Given the description of an element on the screen output the (x, y) to click on. 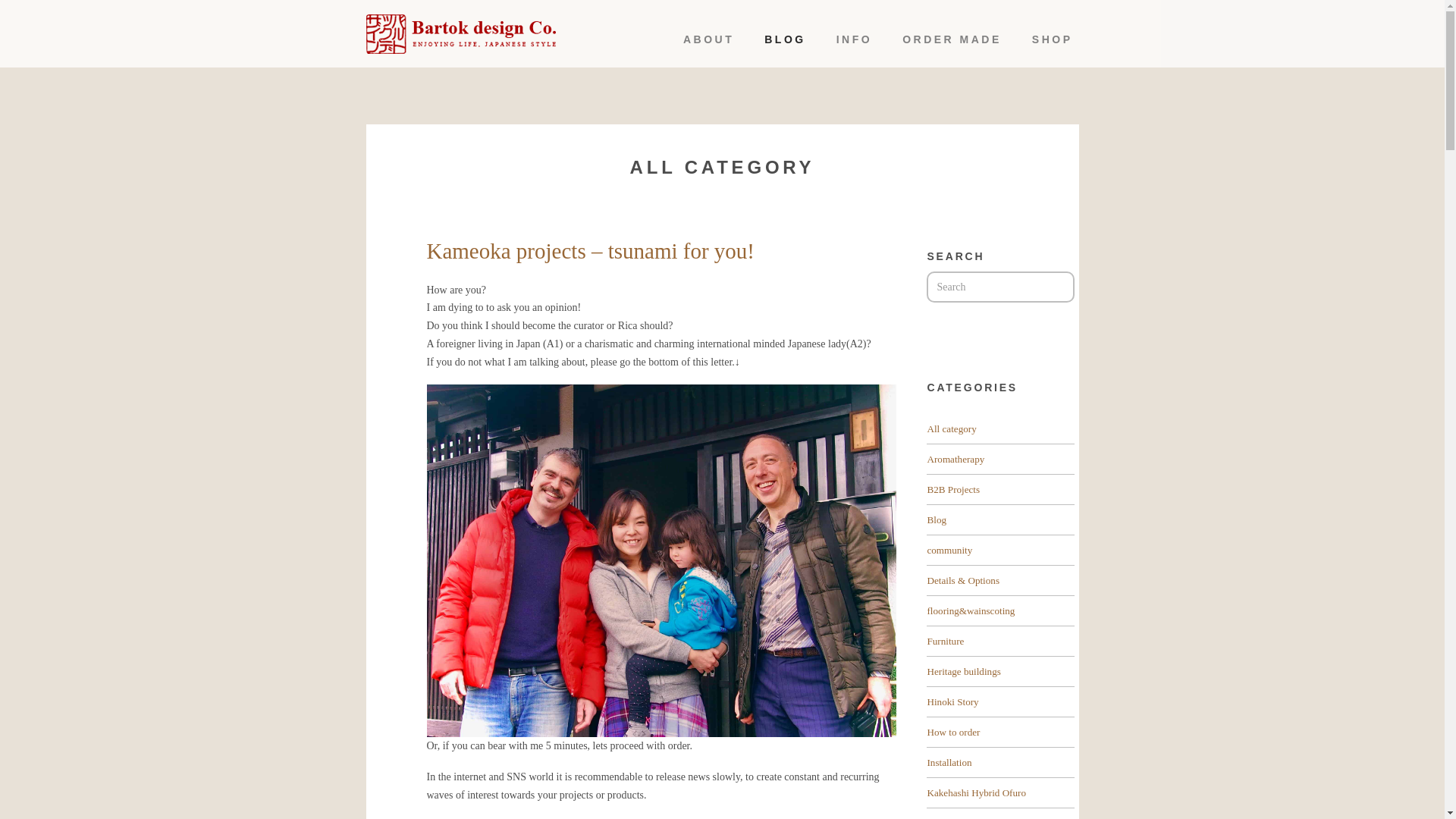
ORDER MADE (951, 39)
ABOUT (707, 39)
